Given the description of an element on the screen output the (x, y) to click on. 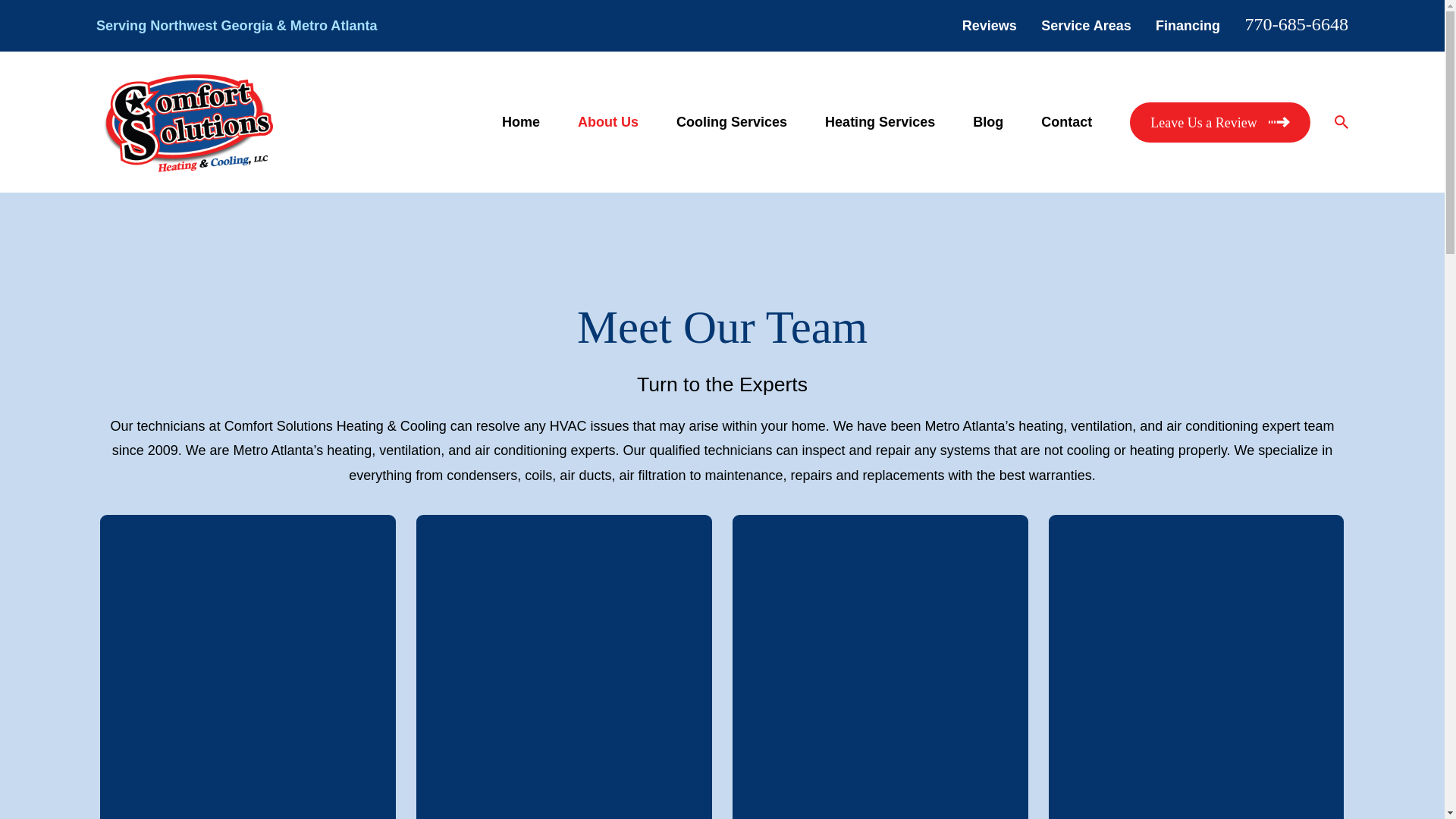
Heating Services (879, 122)
Service Areas (1086, 25)
Cooling Services (732, 122)
About Us (608, 122)
Reviews (989, 25)
Financing (1188, 25)
Home (188, 122)
770-685-6648 (1296, 24)
